Given the description of an element on the screen output the (x, y) to click on. 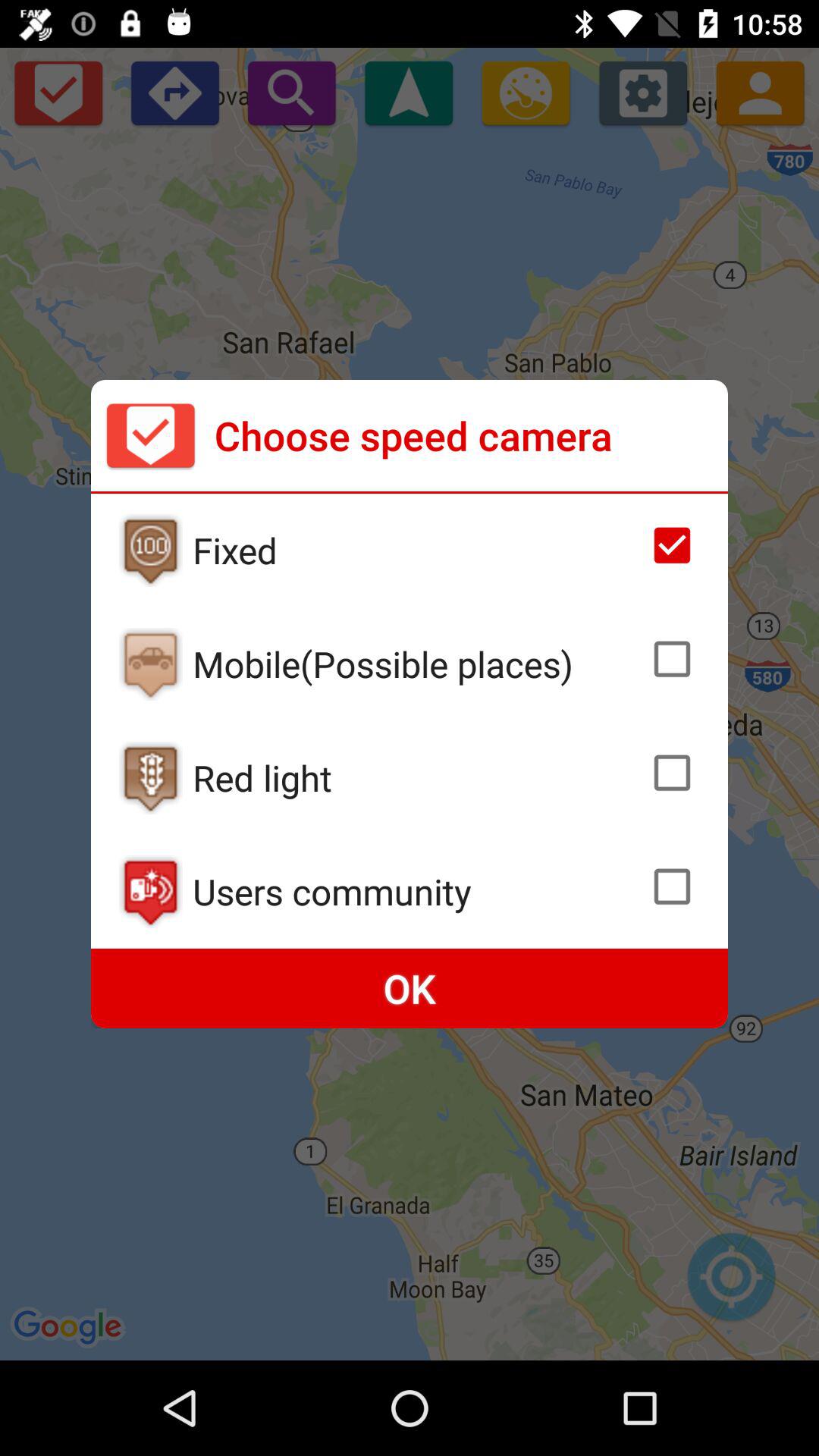
click fixed option (150, 550)
